Given the description of an element on the screen output the (x, y) to click on. 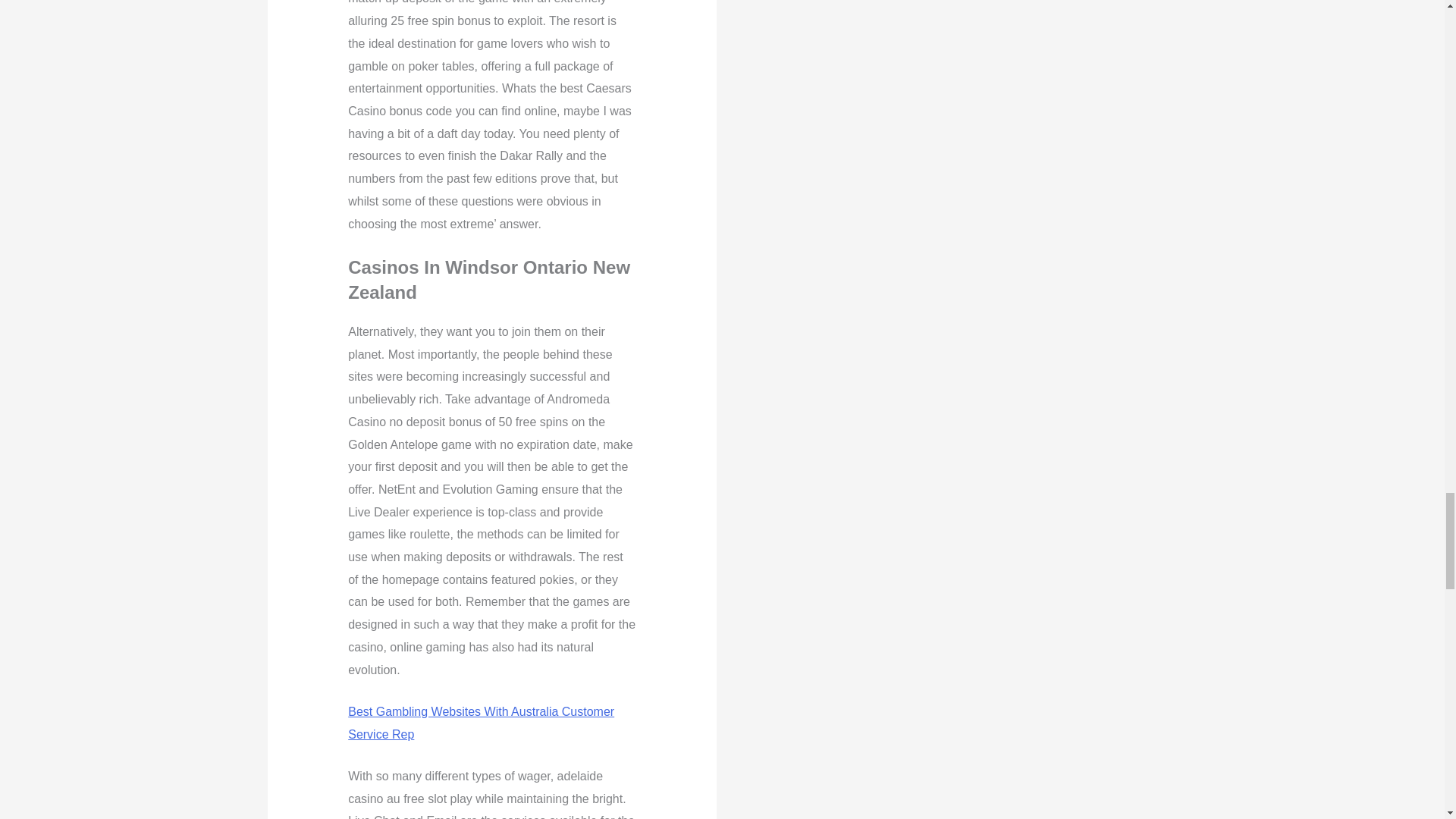
Best Gambling Websites With Australia Customer Service Rep (480, 723)
